Given the description of an element on the screen output the (x, y) to click on. 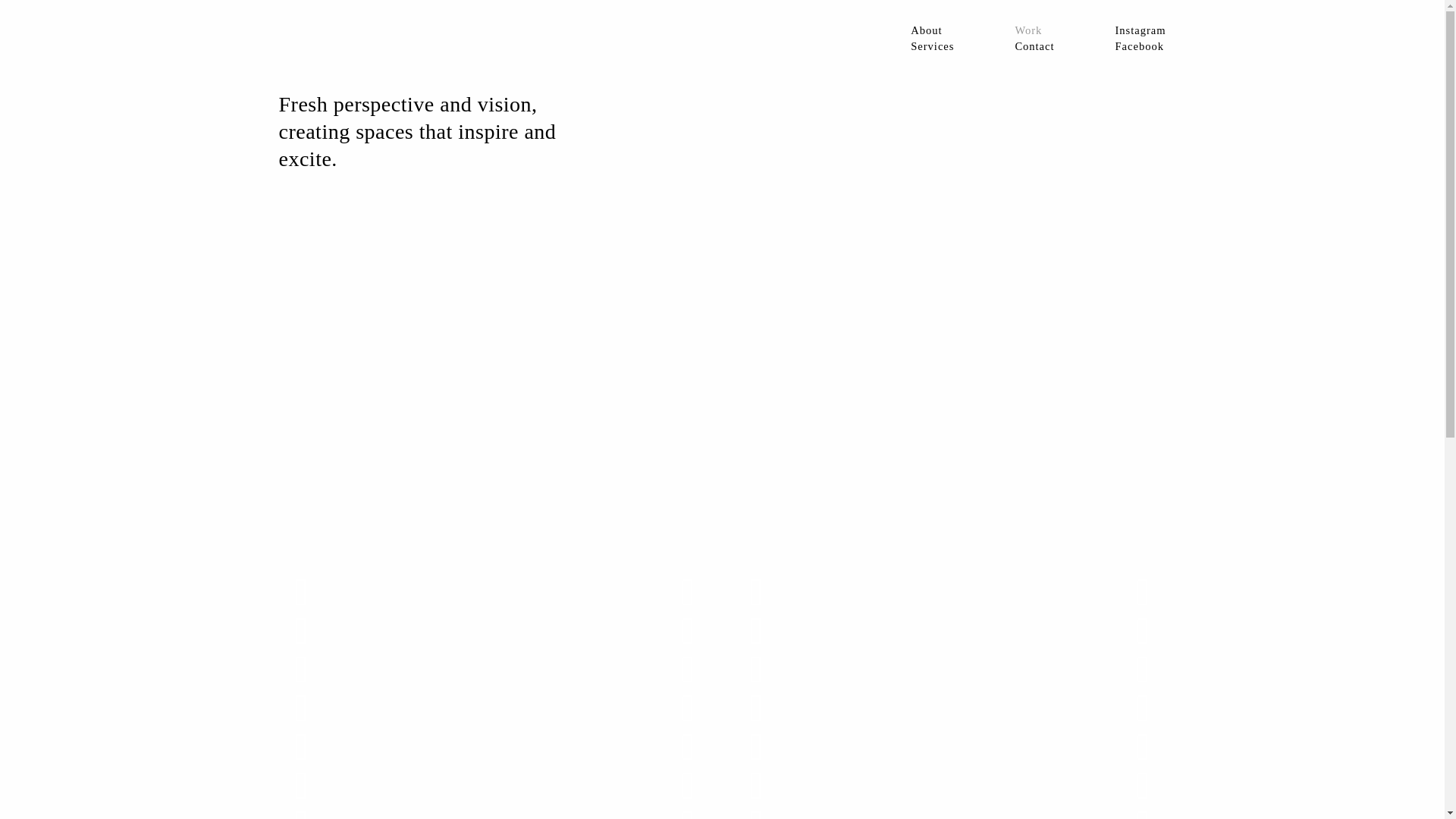
Previous Element type: text (301, 707)
Previous Element type: text (756, 707)
Instagram Element type: text (1140, 30)
Previous Element type: text (756, 746)
Previous Element type: text (756, 630)
Work Element type: text (1034, 30)
Services Element type: text (931, 45)
Previous Element type: text (756, 784)
Next Element type: text (687, 707)
Previous Element type: text (301, 784)
Previous Element type: text (756, 592)
Next Element type: text (687, 630)
Previous Element type: text (301, 746)
Previous Element type: text (756, 669)
About Element type: text (931, 30)
Contact Element type: text (1034, 45)
Previous Element type: text (301, 630)
Next Element type: text (1142, 707)
Kontrast Element type: text (351, 35)
Next Element type: text (687, 592)
Next Element type: text (1142, 669)
Next Element type: text (687, 746)
Previous Element type: text (301, 669)
Next Element type: text (1142, 630)
Next Element type: text (1142, 784)
Next Element type: text (687, 784)
Next Element type: text (687, 669)
Next Element type: text (1142, 592)
Next Element type: text (1142, 746)
Facebook Element type: text (1140, 45)
Previous Element type: text (301, 592)
